Given the description of an element on the screen output the (x, y) to click on. 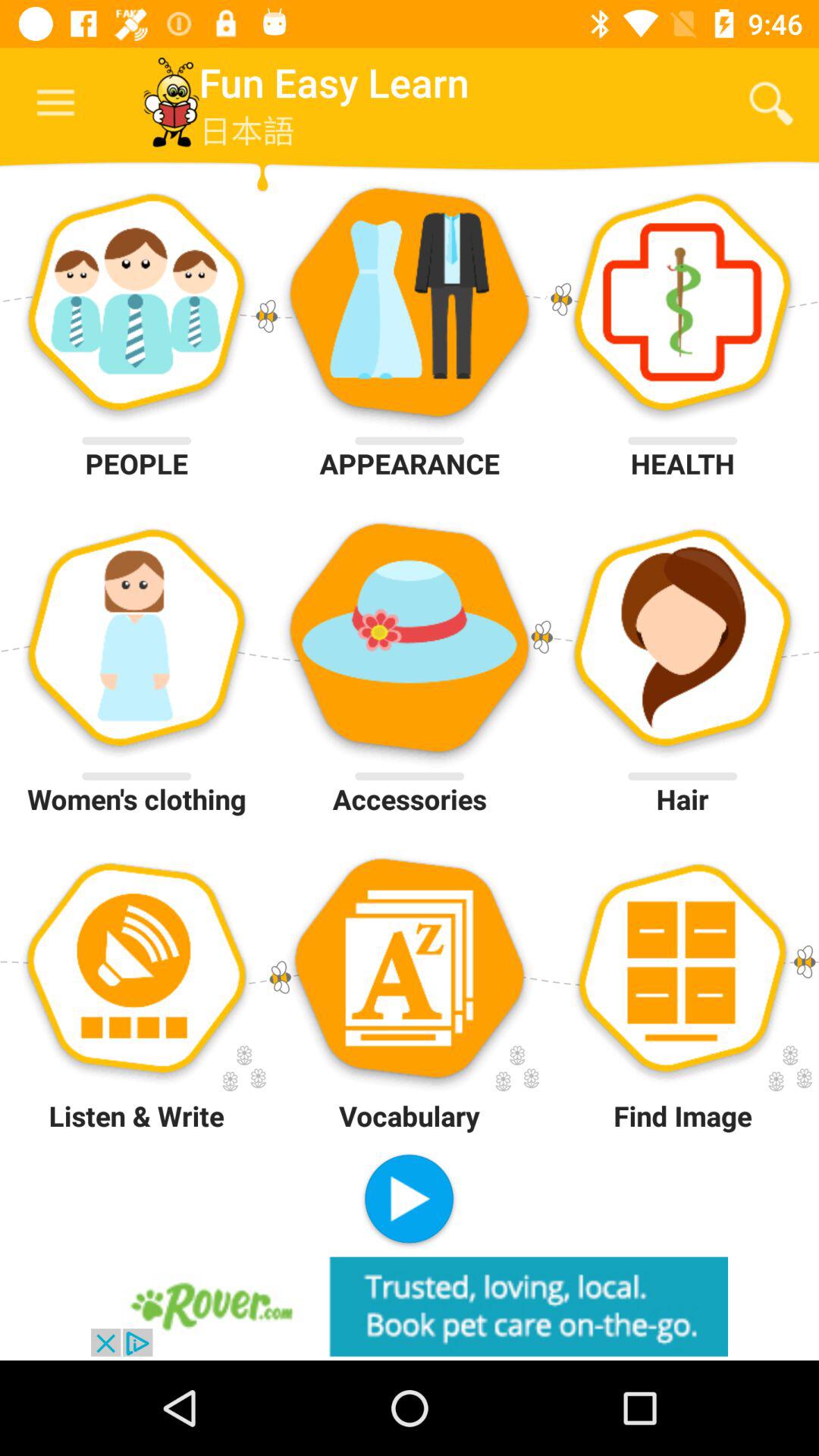
play selected topic (408, 1200)
